Given the description of an element on the screen output the (x, y) to click on. 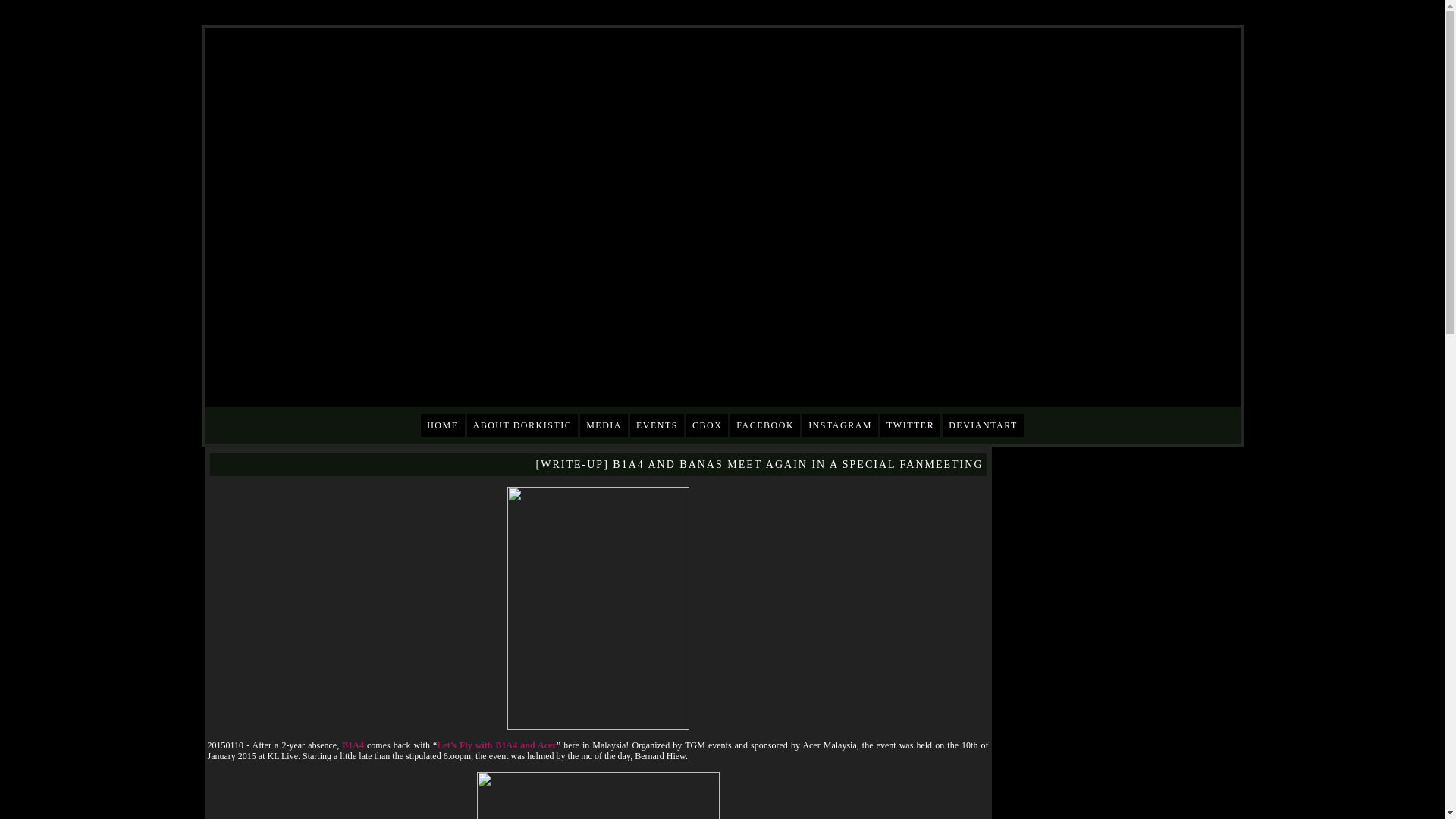
TWITTER (910, 425)
MEDIA (603, 425)
CBOX (706, 425)
DEVIANTART (982, 425)
INSTAGRAM (839, 425)
ABOUT DORKISTIC (522, 425)
FACEBOOK (764, 425)
EVENTS (657, 425)
HOME (442, 425)
